Given the description of an element on the screen output the (x, y) to click on. 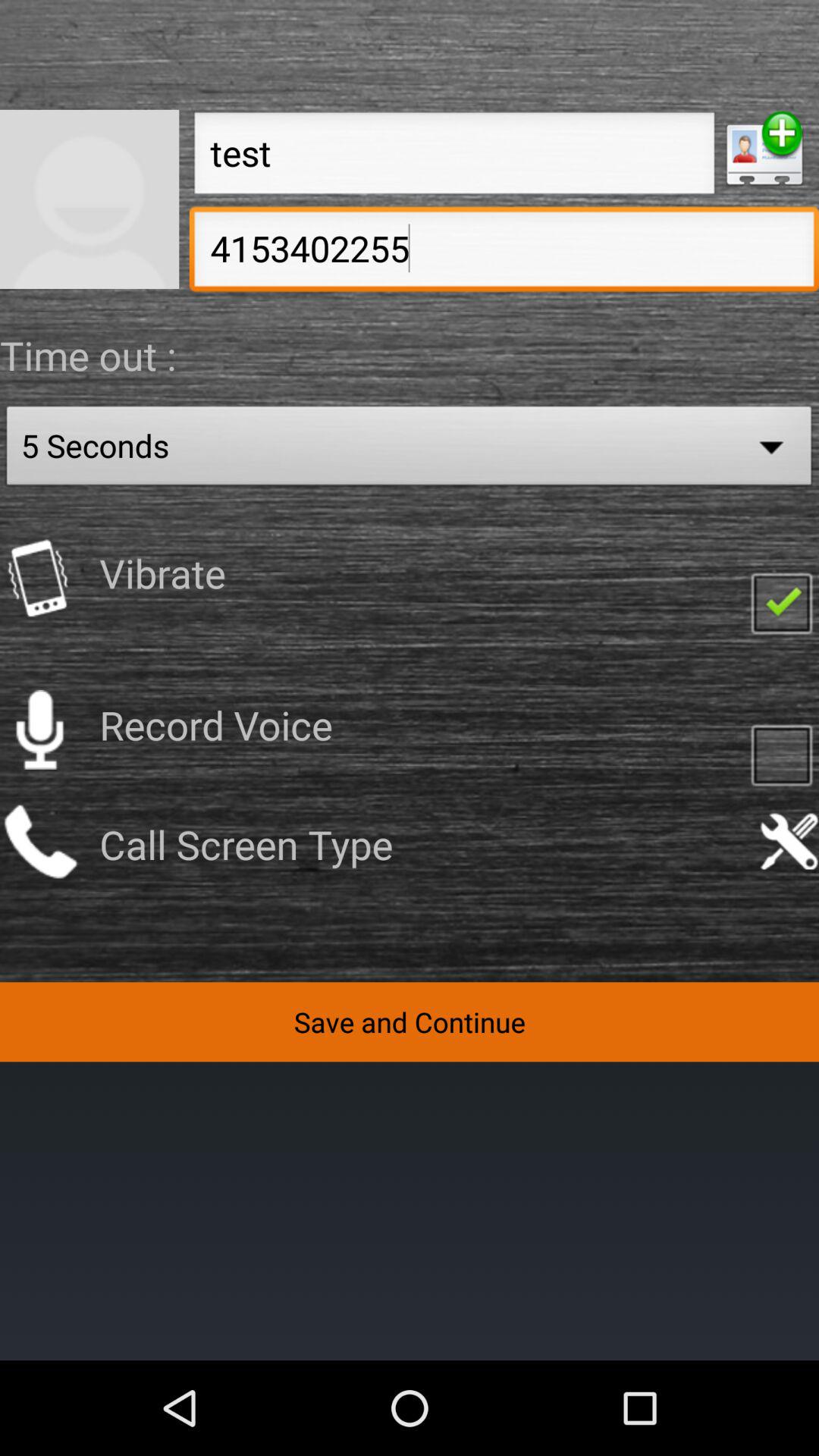
turn on vibration (781, 602)
